Given the description of an element on the screen output the (x, y) to click on. 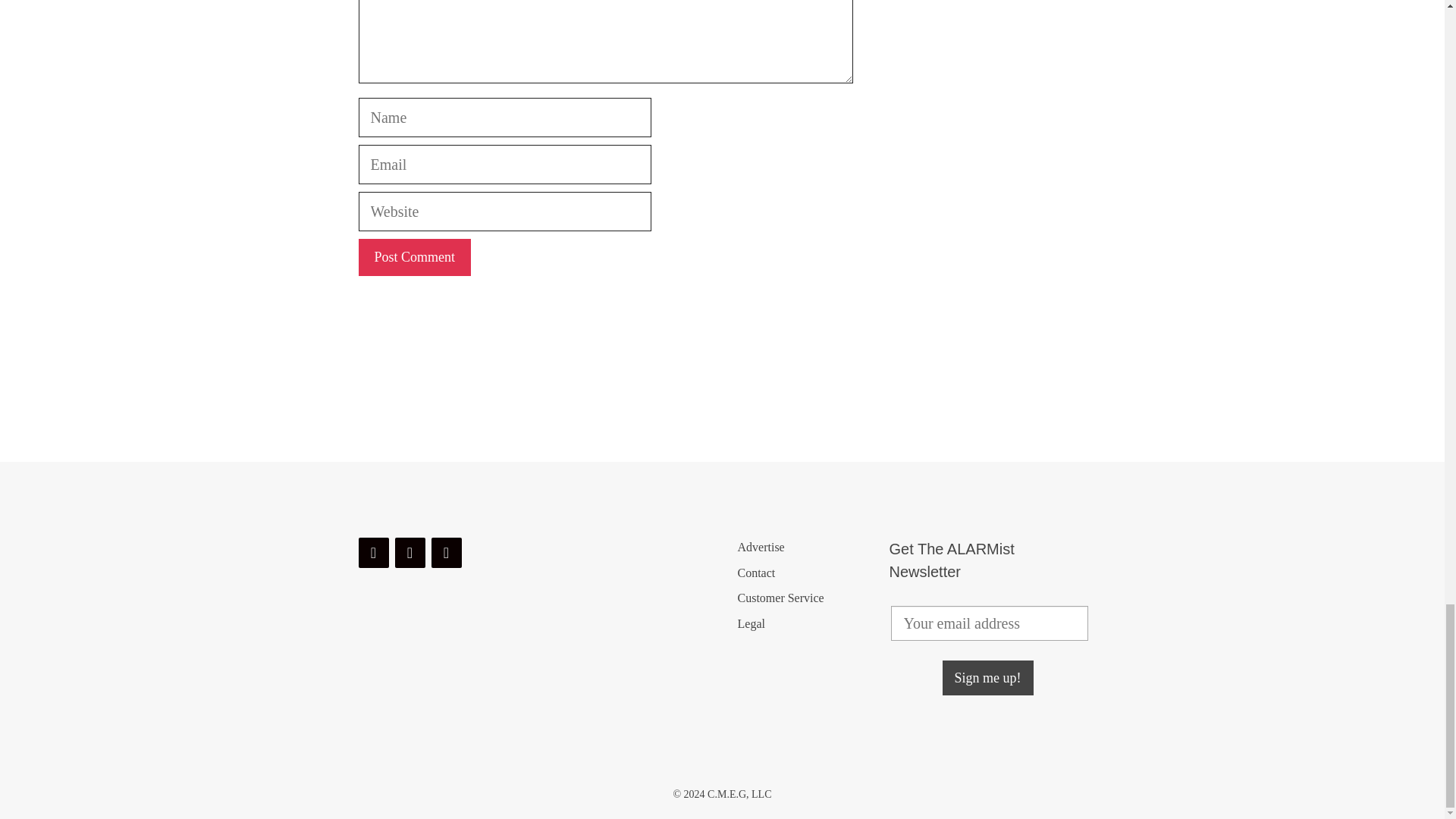
Sign me up! (987, 677)
Advertise (760, 546)
Post Comment (414, 257)
Customer Service (780, 597)
Contact (755, 572)
Legal (750, 623)
Post Comment (414, 257)
